Given the description of an element on the screen output the (x, y) to click on. 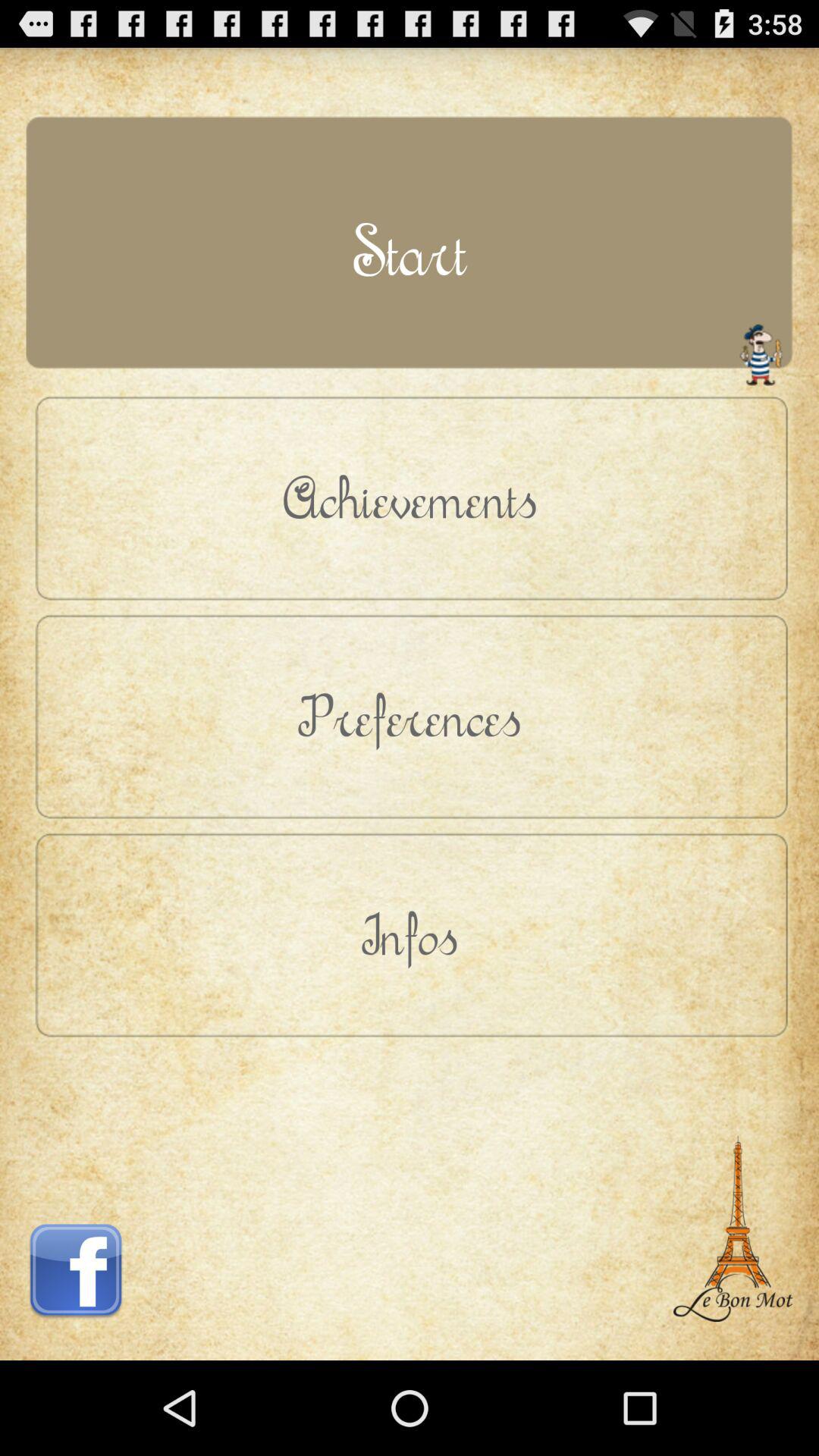
turn off button above the preferences icon (409, 497)
